Given the description of an element on the screen output the (x, y) to click on. 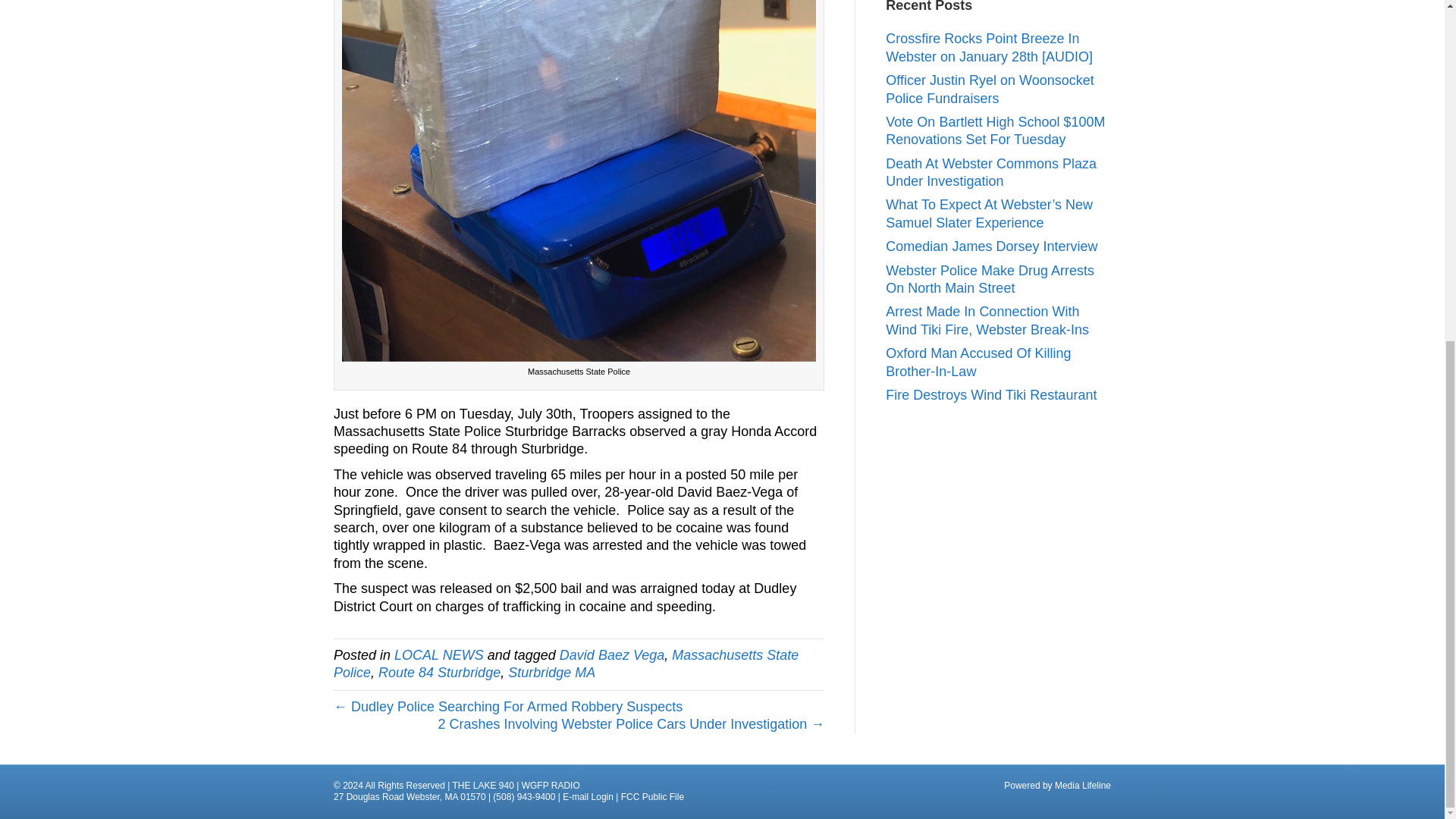
LOCAL NEWS (438, 654)
FCC Public File (652, 796)
Death At Webster Commons Plaza Under Investigation (990, 172)
Comedian James Dorsey Interview (991, 246)
David Baez Vega (611, 654)
E-mail Login (587, 796)
Officer Justin Ryel on Woonsocket Police Fundraisers (989, 88)
Webster Police Make Drug Arrests On North Main Street (989, 278)
Route 84 Sturbridge (439, 672)
